Given the description of an element on the screen output the (x, y) to click on. 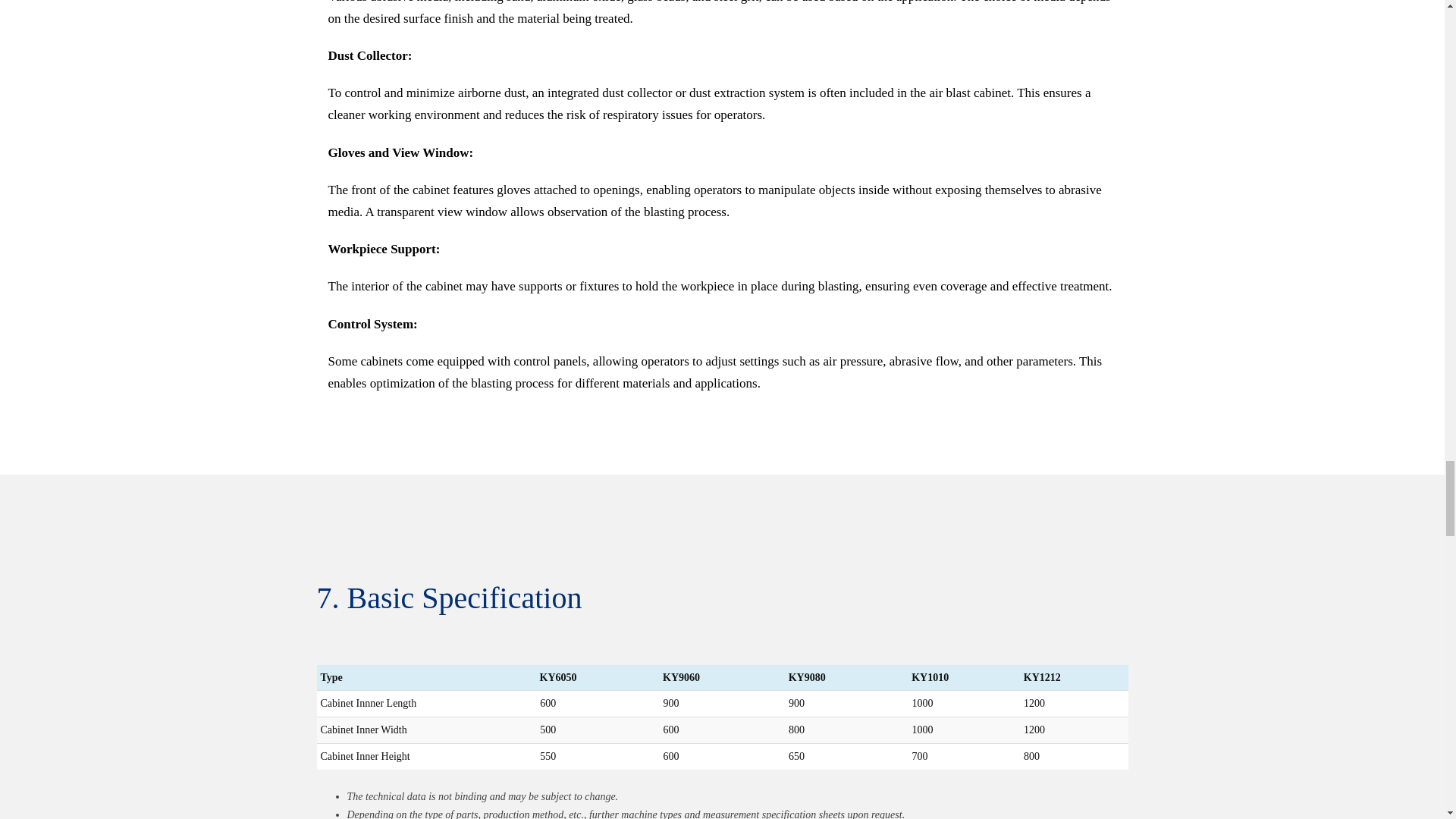
Type KY6050 KY9060 KY9080 KY1010 KY1212 (722, 678)
Type KY6050 KY9060 KY9080 KY1010 KY1212 (728, 678)
